Given the description of an element on the screen output the (x, y) to click on. 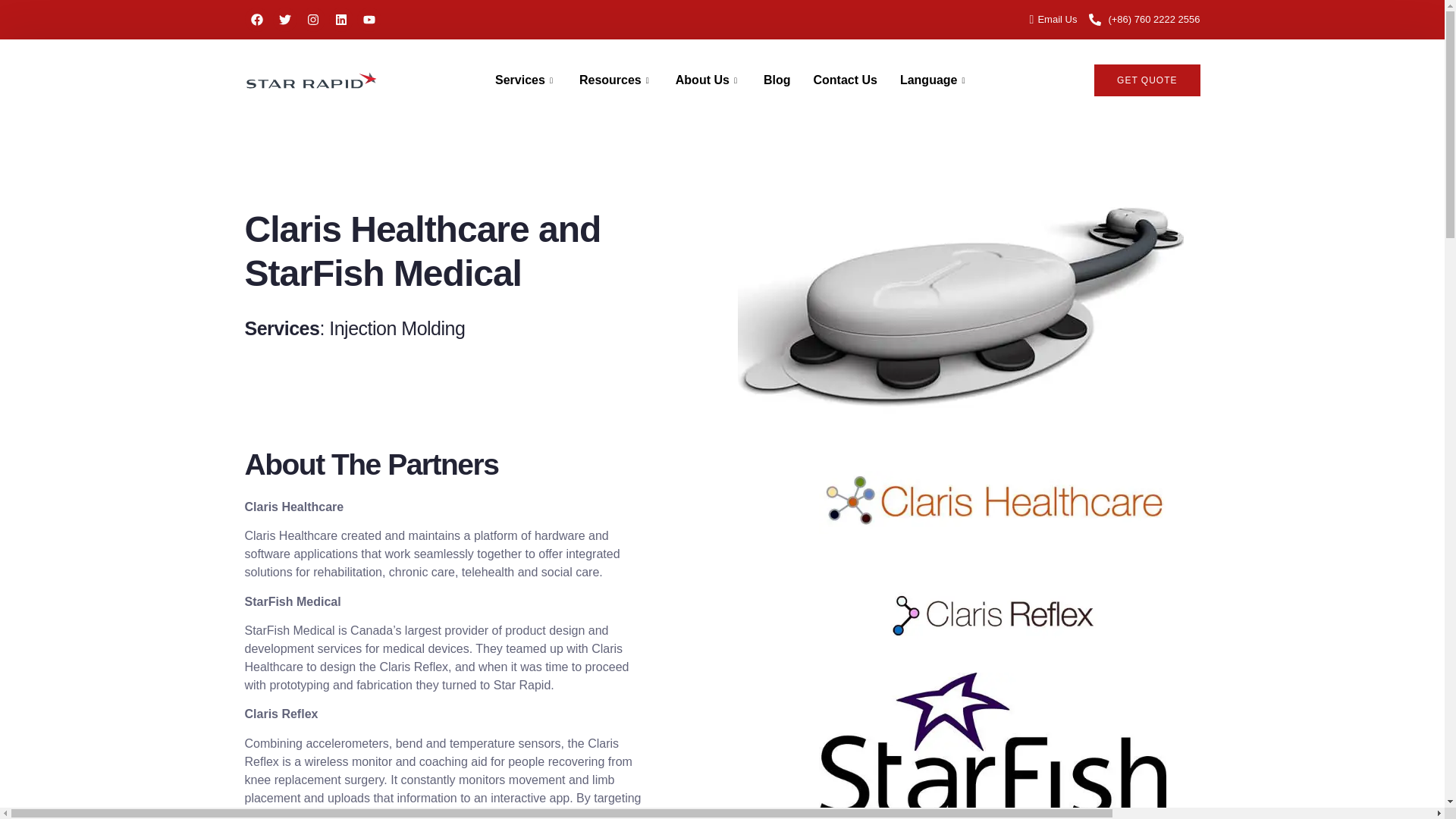
SRLogo (310, 79)
Email Us (1047, 19)
Services (525, 79)
